Given the description of an element on the screen output the (x, y) to click on. 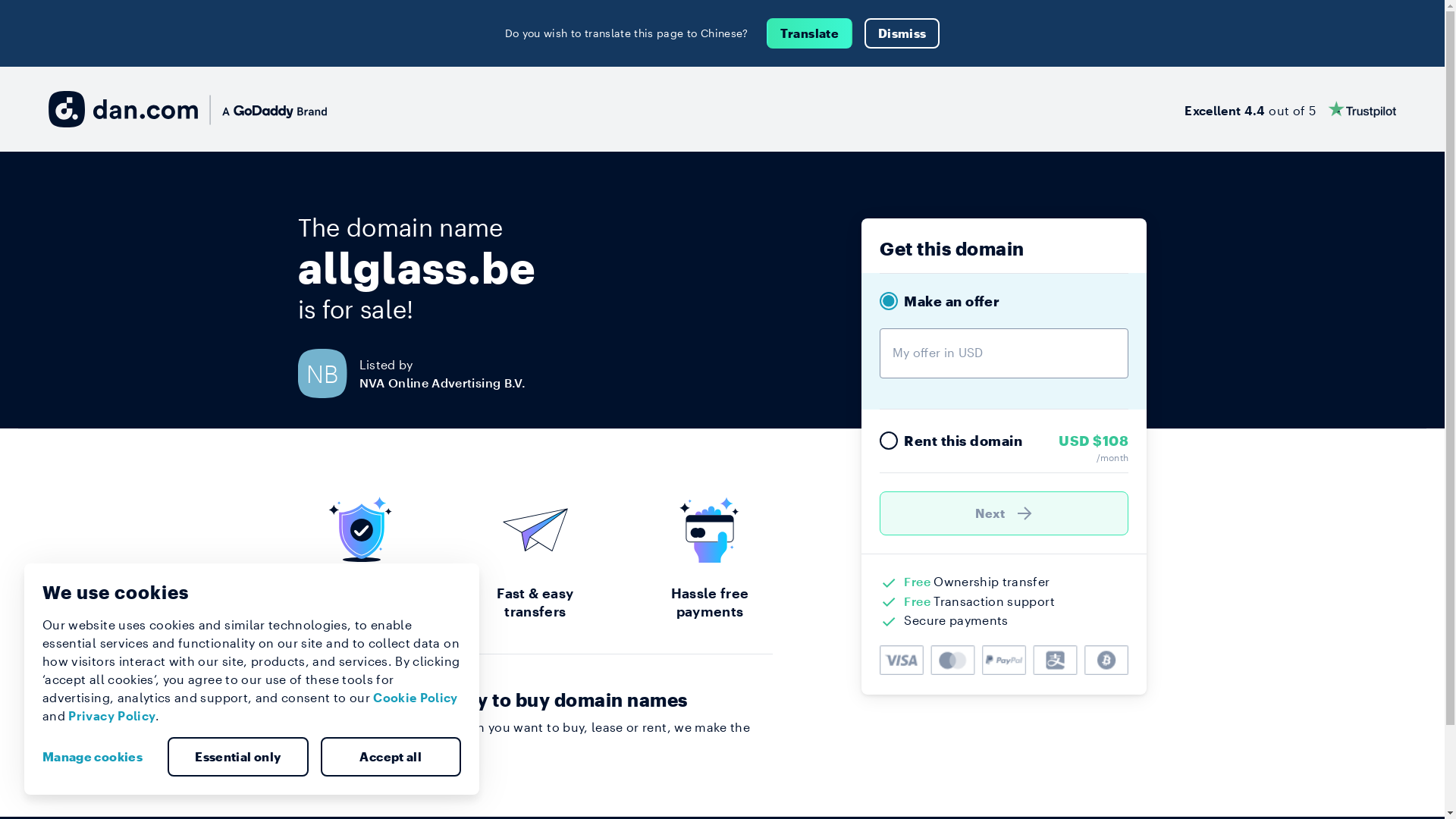
Manage cookies Element type: text (98, 756)
Translate Element type: text (809, 33)
Dismiss Element type: text (901, 33)
Next
) Element type: text (1003, 513)
Accept all Element type: text (390, 756)
Essential only Element type: text (237, 756)
Privacy Policy Element type: text (111, 715)
Cookie Policy Element type: text (415, 697)
Excellent 4.4 out of 5 Element type: text (1290, 109)
